Given the description of an element on the screen output the (x, y) to click on. 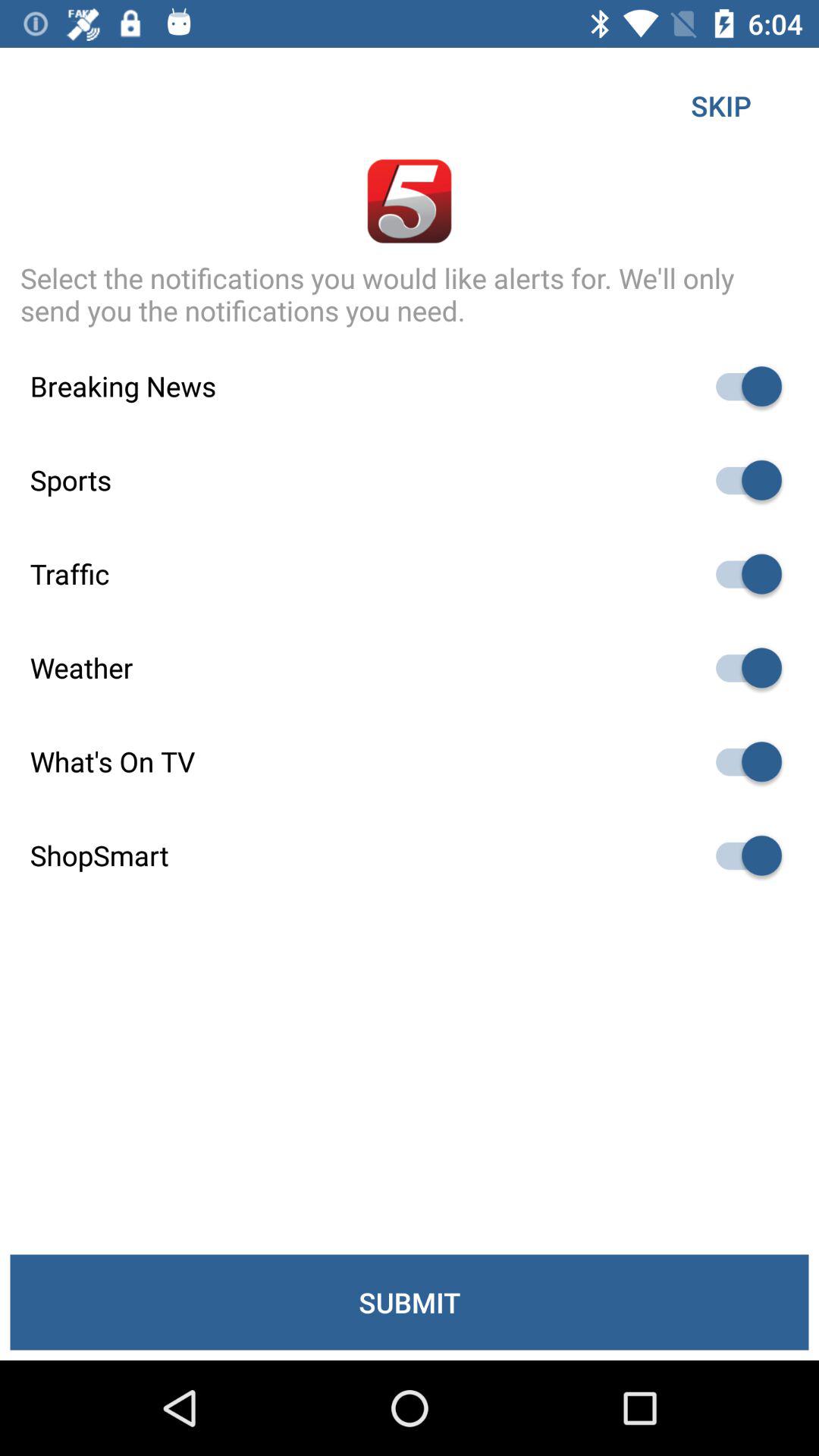
traffic toggle slider (741, 574)
